Given the description of an element on the screen output the (x, y) to click on. 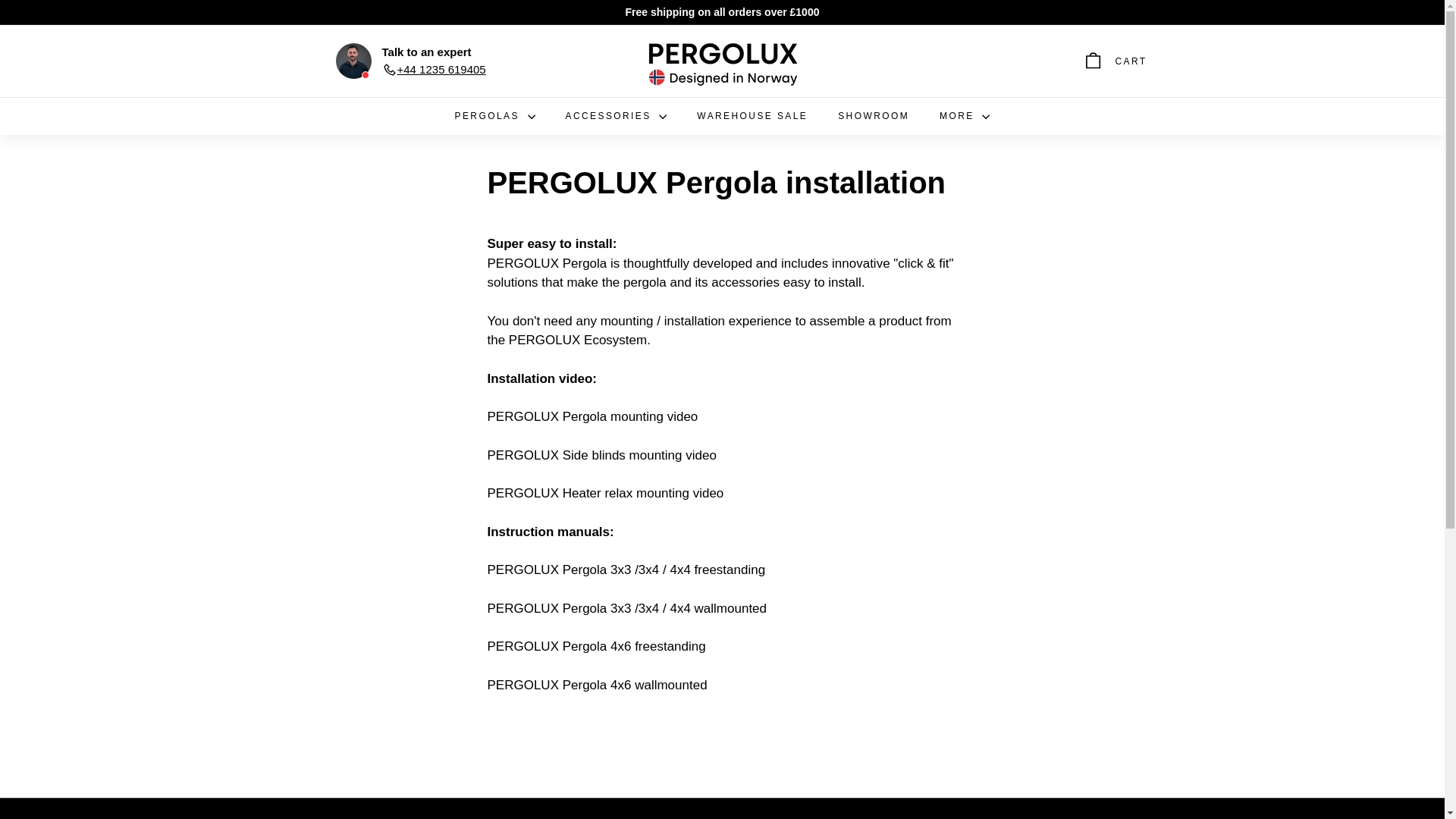
SHOWROOM (873, 116)
WAREHOUSE SALE (751, 116)
CART (1115, 60)
